Given the description of an element on the screen output the (x, y) to click on. 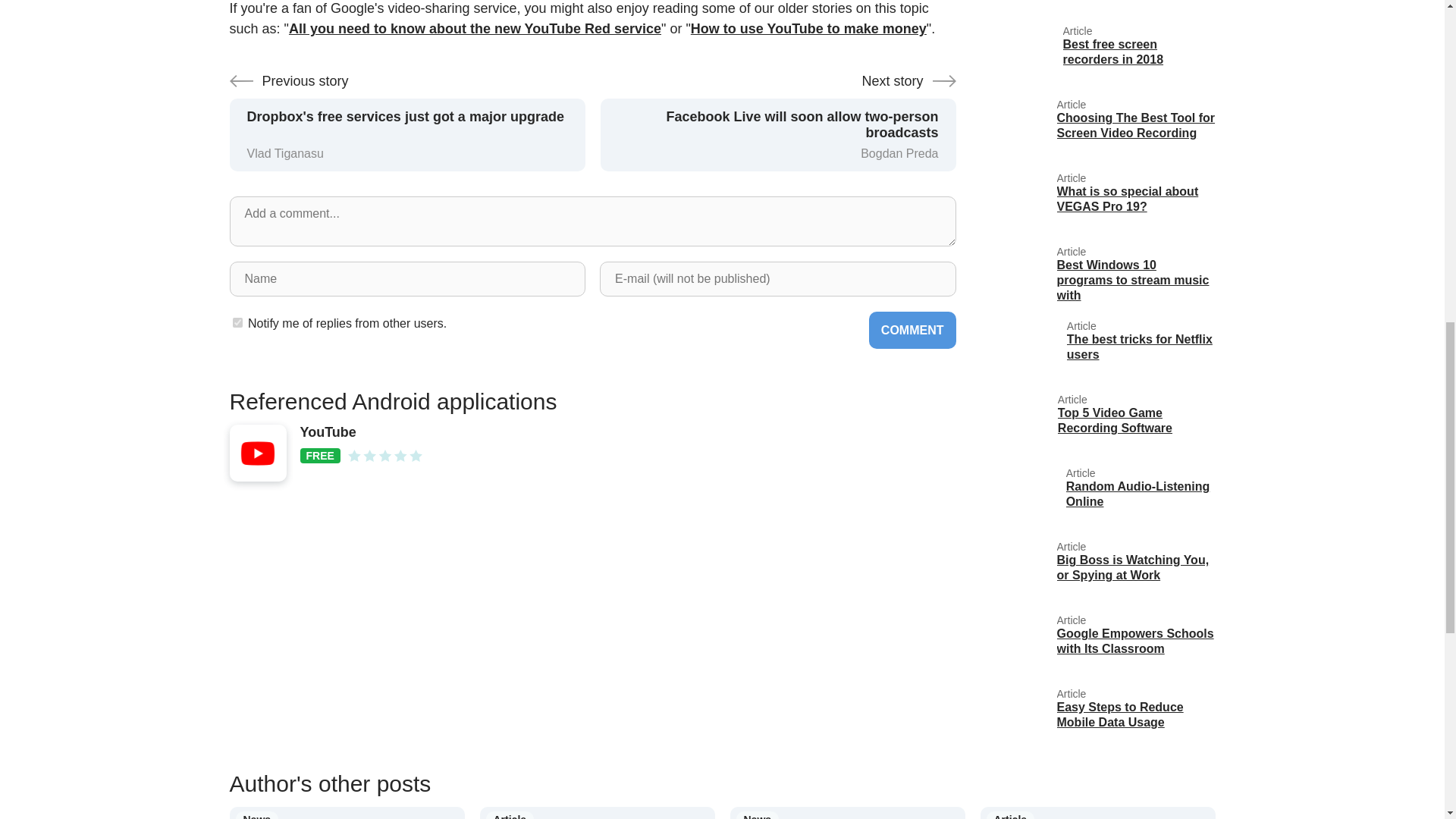
All you need to know about the new YouTube Red service (474, 28)
How to use YouTube to make money (808, 28)
Comment (912, 330)
1 (1100, 53)
Comment (236, 322)
YouTube (912, 330)
